Given the description of an element on the screen output the (x, y) to click on. 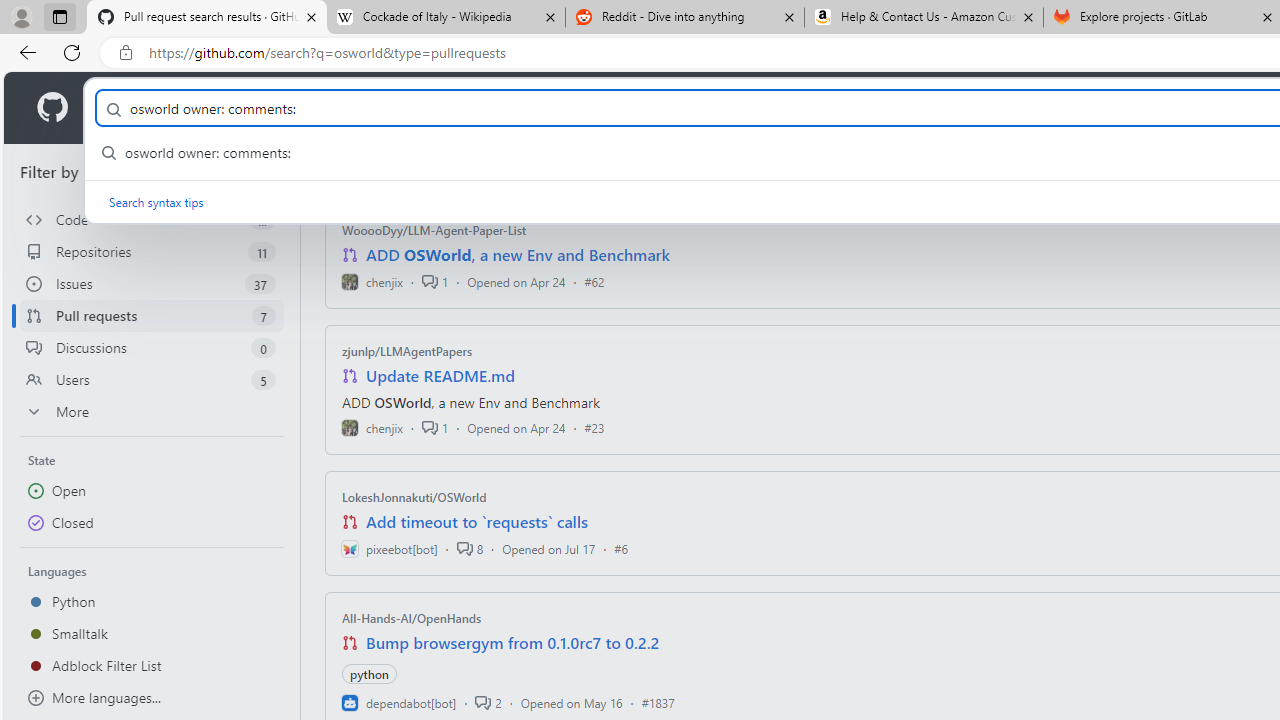
LokeshJonnakuti/OSWorld (413, 497)
All-Hands-AI/OpenHands (411, 618)
#62 (594, 281)
#1837 (657, 702)
ADD OSWorld, a new Env and Benchmark (517, 255)
Enterprise (563, 107)
